Given the description of an element on the screen output the (x, y) to click on. 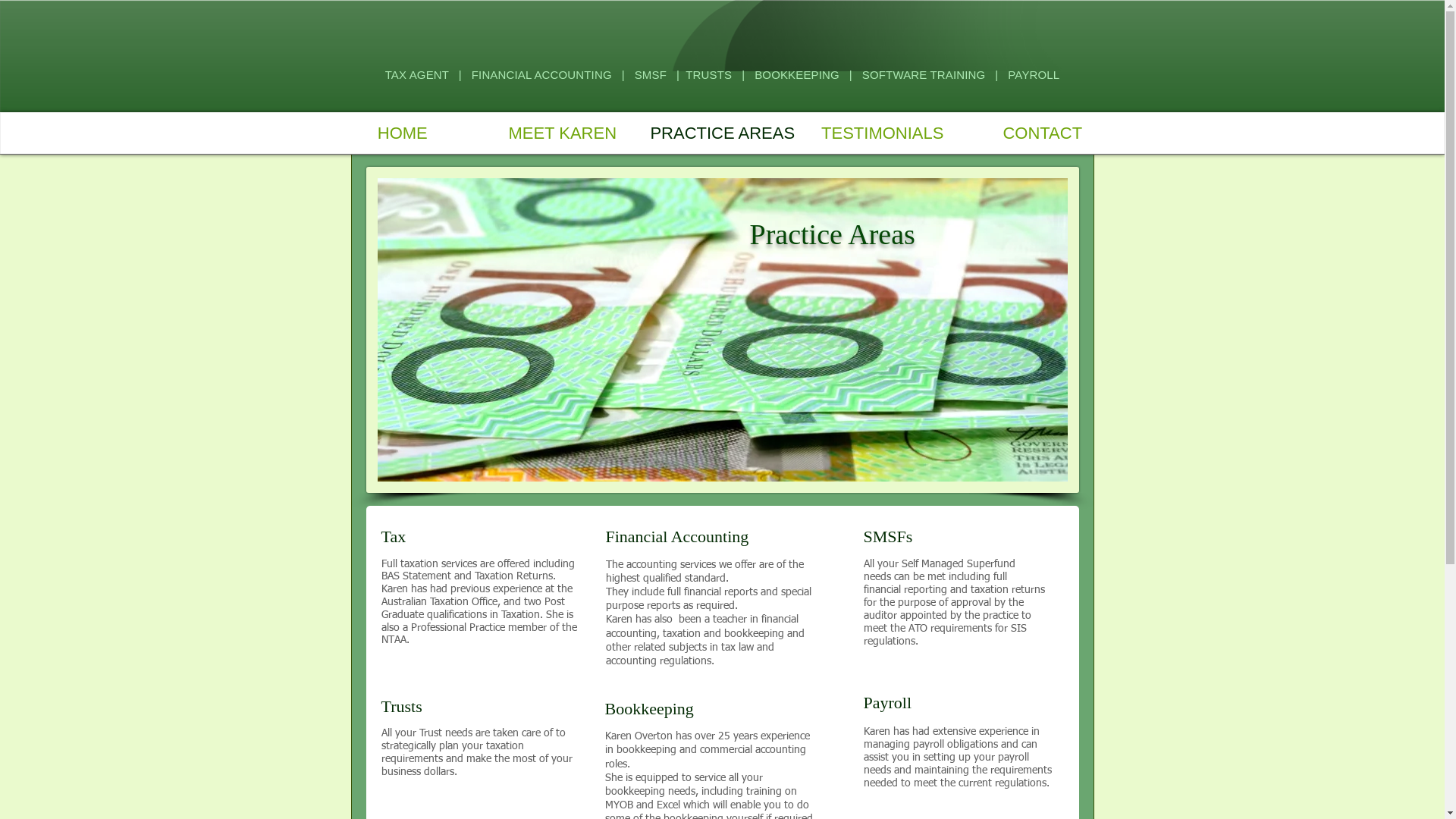
PRACTICE AREAS Element type: text (722, 128)
CONTACT Element type: text (1042, 128)
MEET KAREN Element type: text (562, 128)
HOME Element type: text (402, 128)
TESTIMONIALS Element type: text (882, 128)
